Given the description of an element on the screen output the (x, y) to click on. 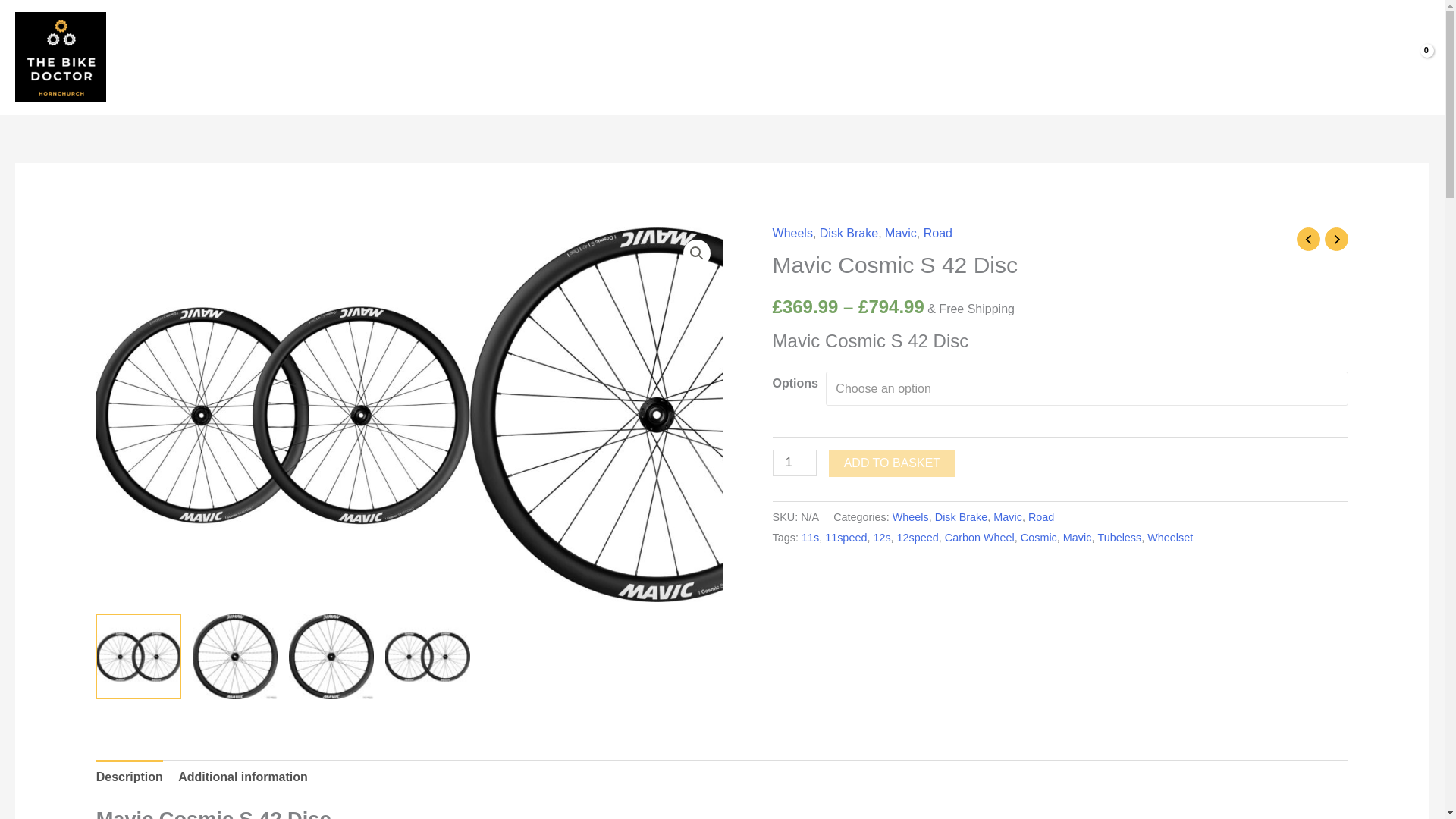
SERVICE OPTIONS (555, 56)
SHOP (372, 56)
Wheels (792, 232)
Mavic (1007, 517)
11speed (845, 537)
Wheels (910, 517)
Road (937, 232)
Disk Brake (848, 232)
BIKEFITTING (672, 56)
ABOUT US (444, 56)
